Given the description of an element on the screen output the (x, y) to click on. 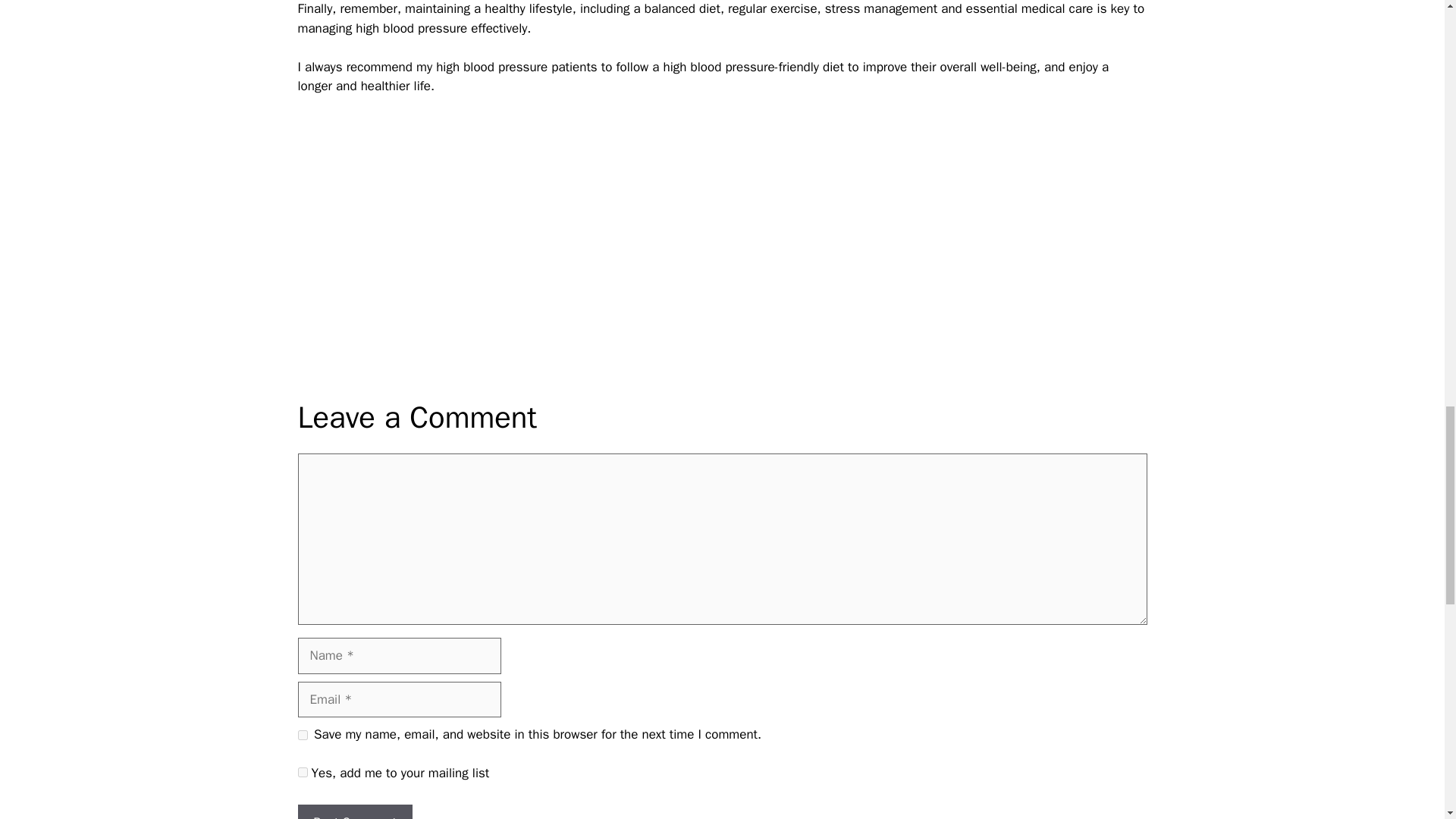
Advertisement (722, 247)
1 (302, 772)
Post Comment (354, 811)
yes (302, 735)
Post Comment (354, 811)
